Given the description of an element on the screen output the (x, y) to click on. 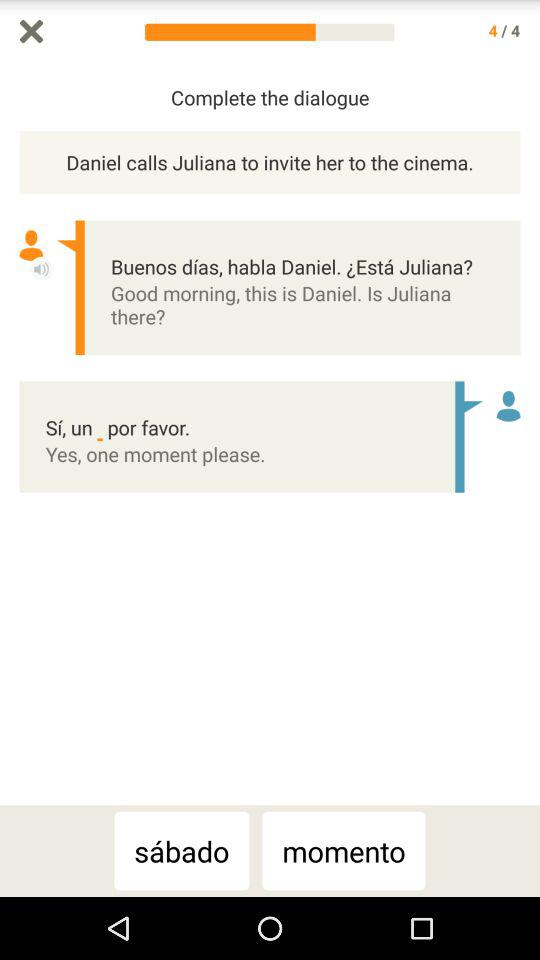
tap the icon to the right of the daniel calls juliana (530, 434)
